Given the description of an element on the screen output the (x, y) to click on. 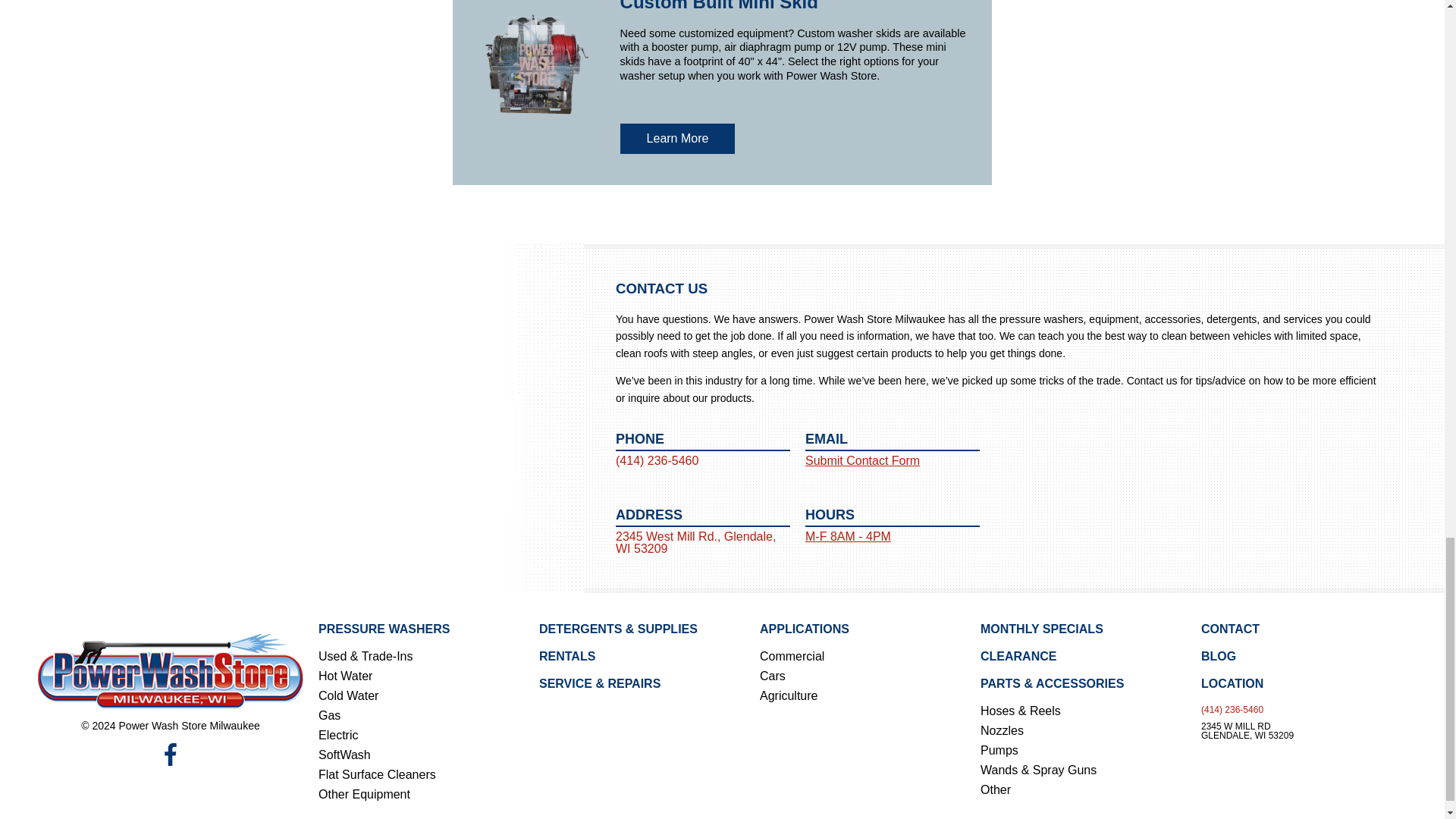
Facebook with Power Wash Store (170, 753)
